Given the description of an element on the screen output the (x, y) to click on. 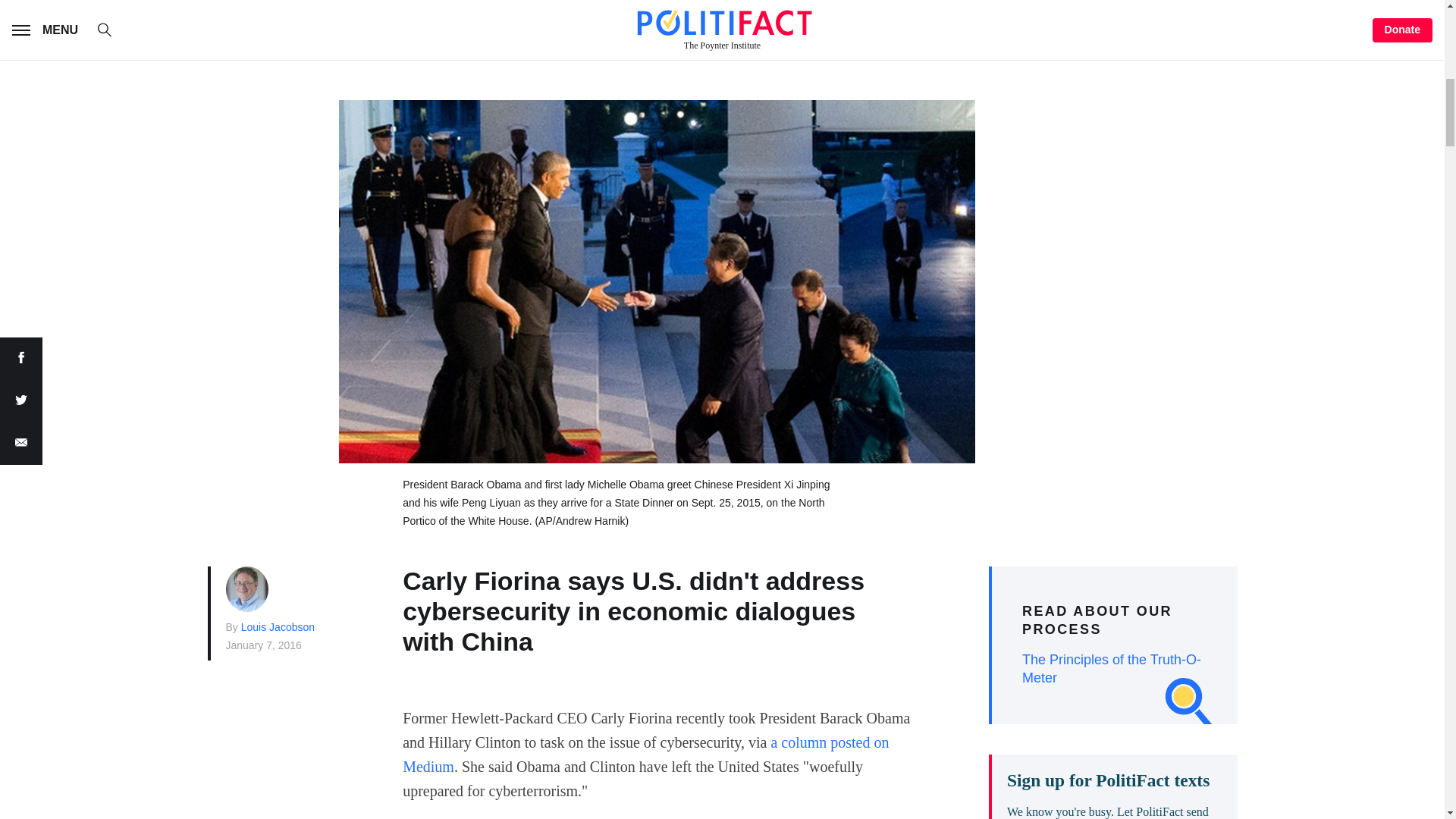
Criminal Justice (636, 4)
Crime (880, 4)
National (449, 4)
Carly Fiorina (604, 30)
China (530, 4)
Foreign Policy (468, 30)
Infrastructure (775, 4)
